Given the description of an element on the screen output the (x, y) to click on. 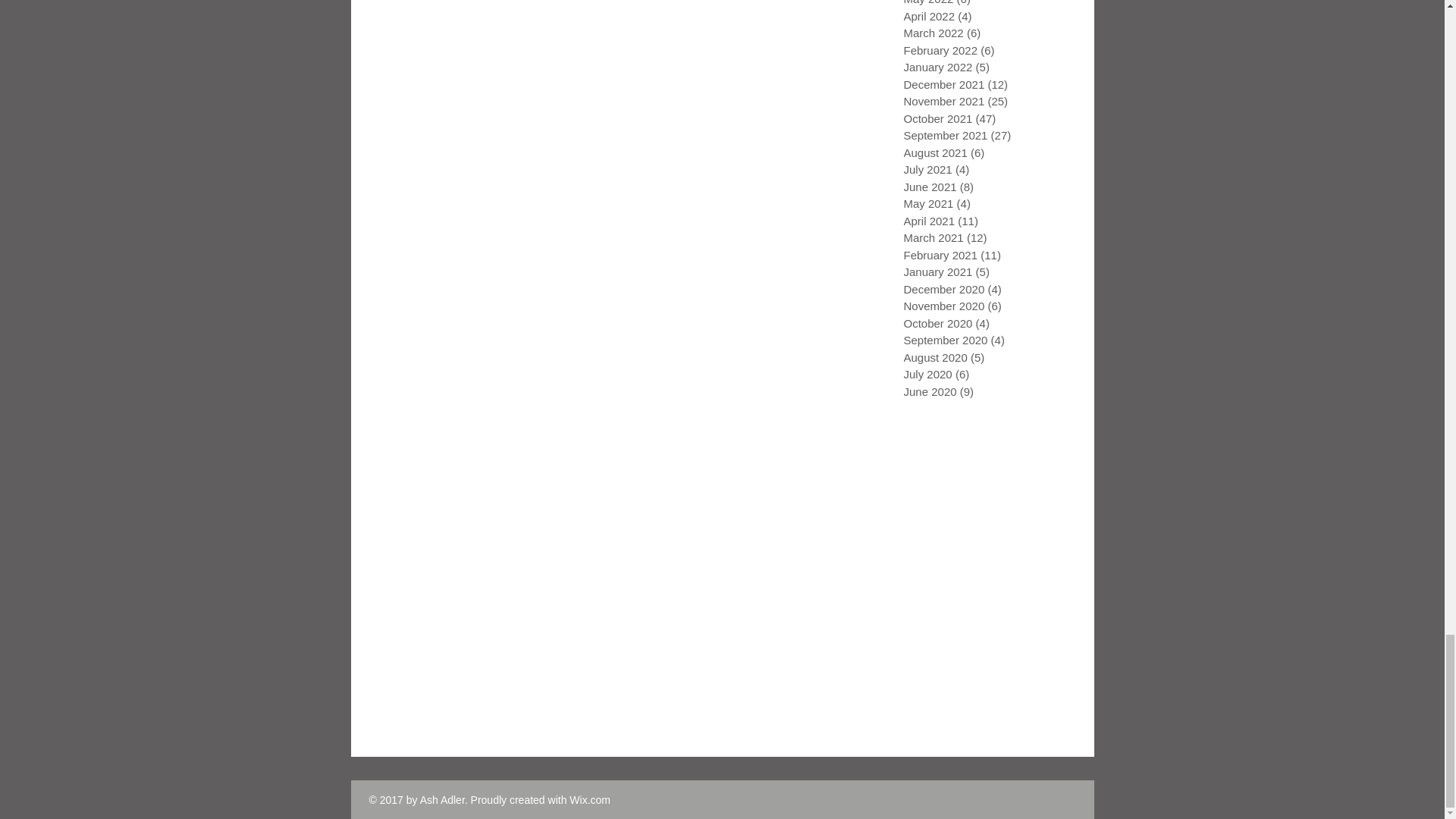
RSS Feed (385, 420)
